Given the description of an element on the screen output the (x, y) to click on. 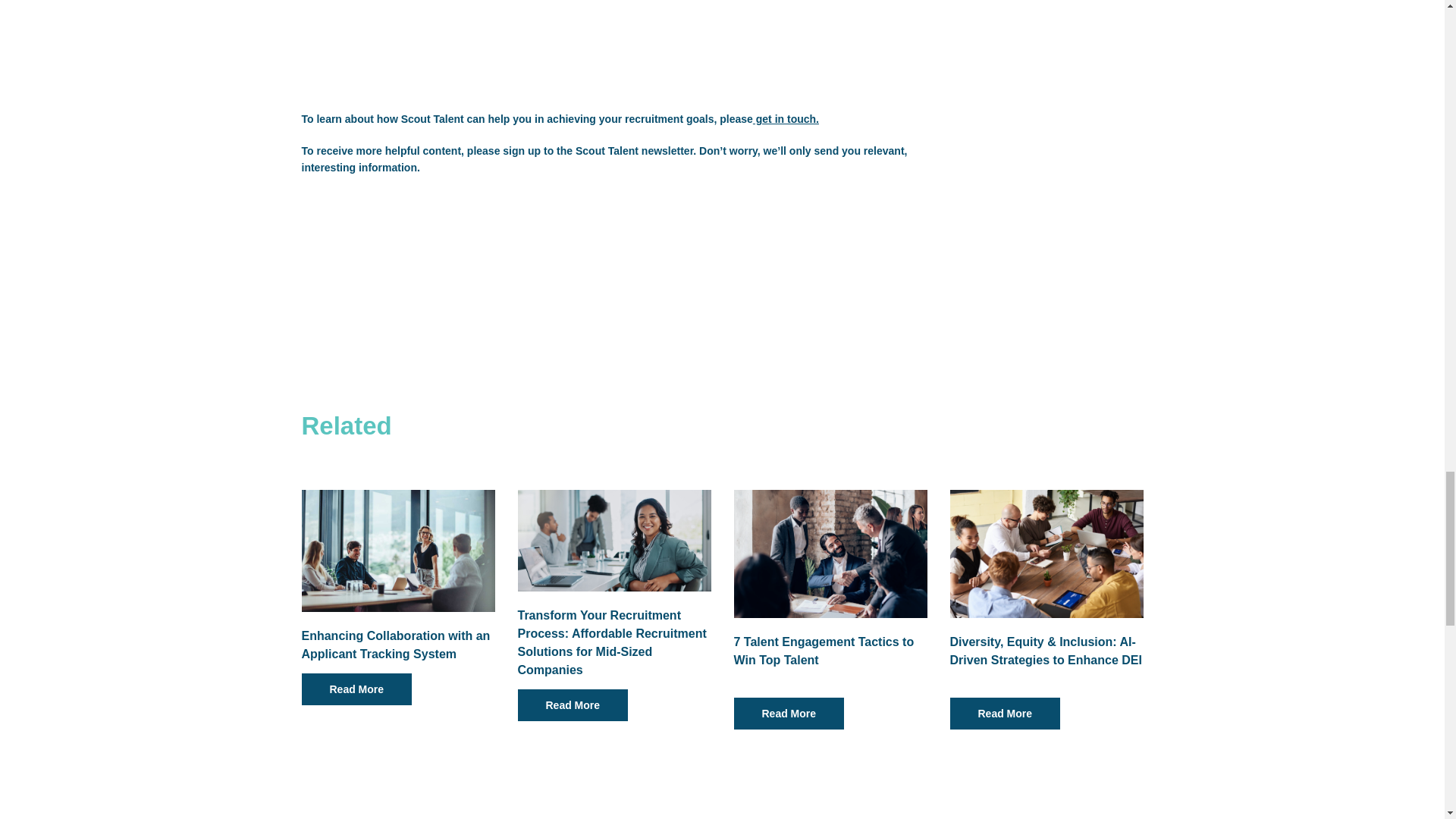
Form 0 (614, 257)
